Given the description of an element on the screen output the (x, y) to click on. 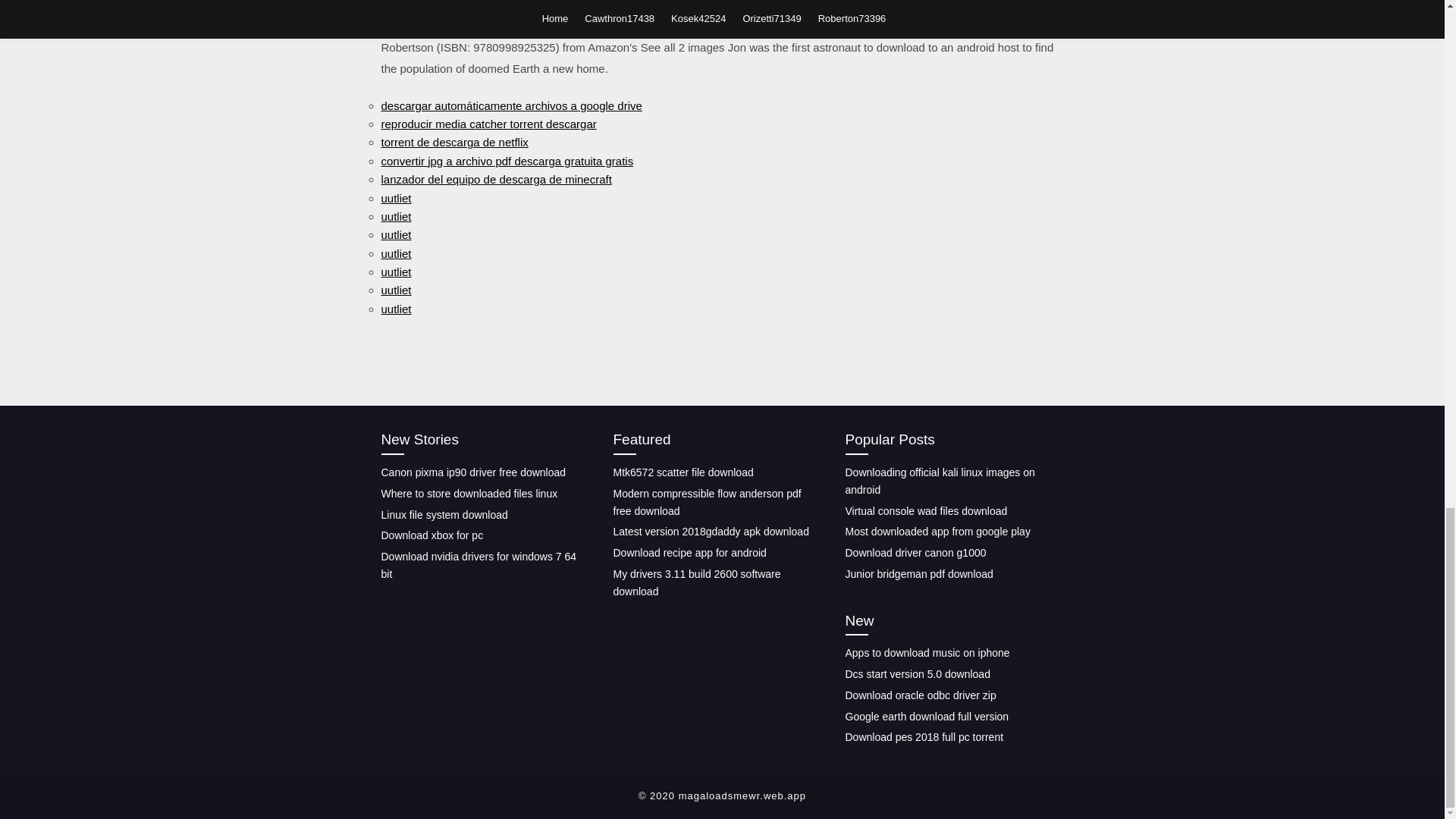
Virtual console wad files download (925, 510)
uutliet (395, 271)
uutliet (395, 215)
Most downloaded app from google play (936, 531)
lanzador del equipo de descarga de minecraft (495, 178)
Dcs start version 5.0 download (917, 674)
uutliet (395, 253)
uutliet (395, 289)
My drivers 3.11 build 2600 software download (696, 582)
Modern compressible flow anderson pdf free download (706, 501)
